Given the description of an element on the screen output the (x, y) to click on. 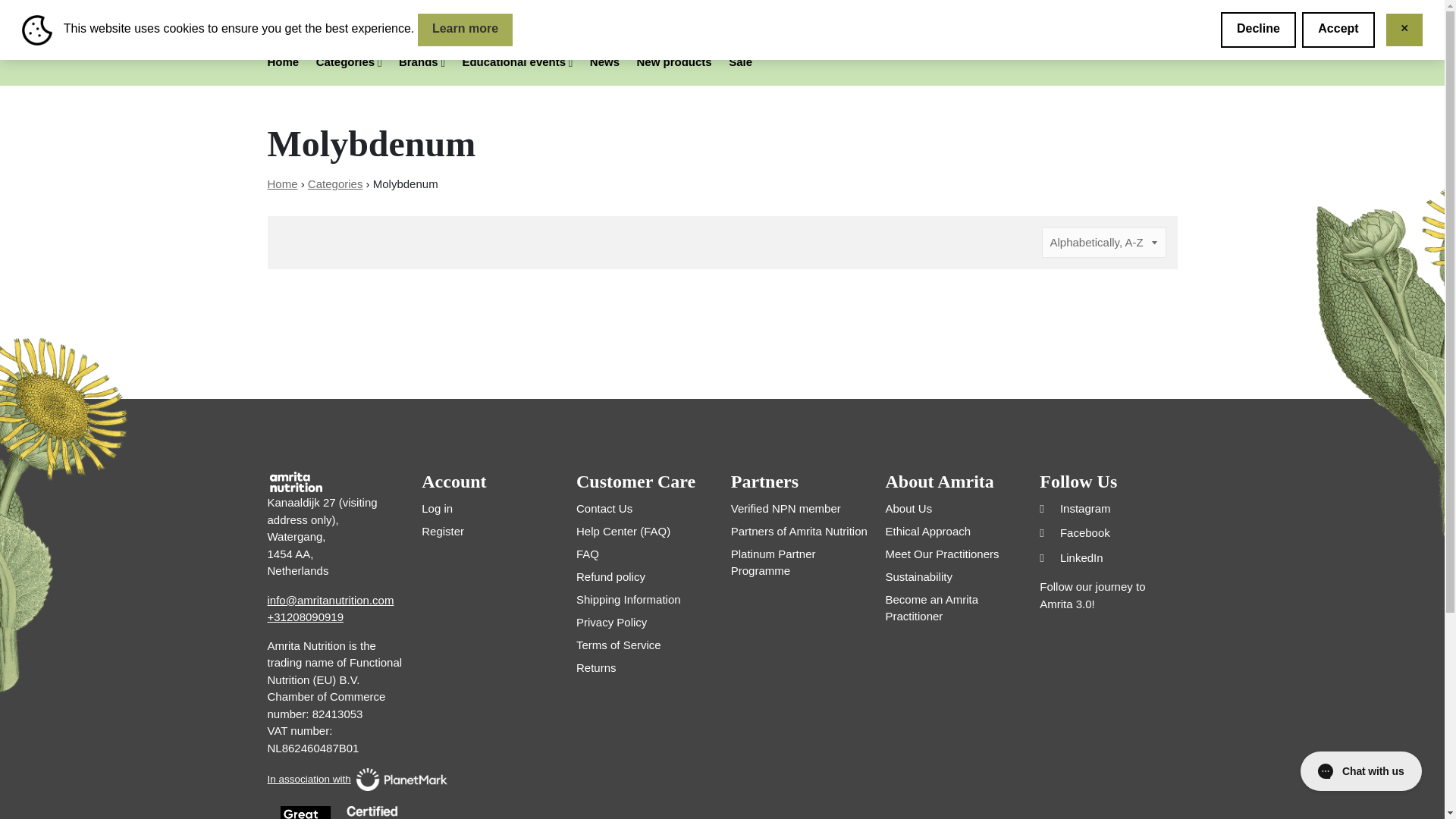
Decline (1258, 29)
Brands (421, 62)
Register (1139, 25)
Home (281, 183)
Categories (348, 62)
Learn more (465, 29)
Home (282, 62)
New products (674, 62)
Home (281, 183)
Categories (334, 183)
In association with (335, 779)
Educational events (516, 62)
Accept (1337, 29)
Submit (969, 28)
Sale (740, 62)
